Given the description of an element on the screen output the (x, y) to click on. 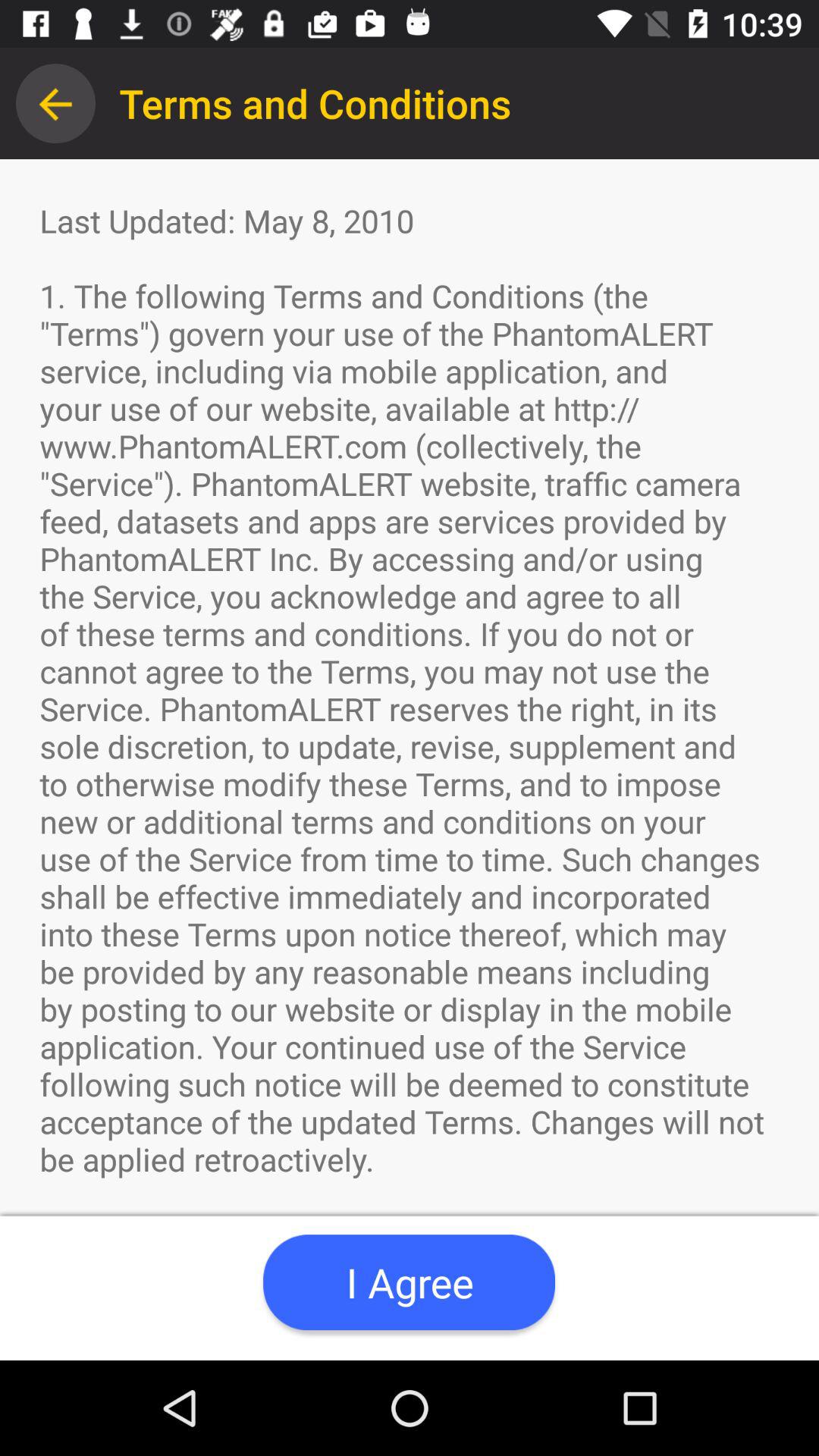
swipe to the i agree (409, 1282)
